Given the description of an element on the screen output the (x, y) to click on. 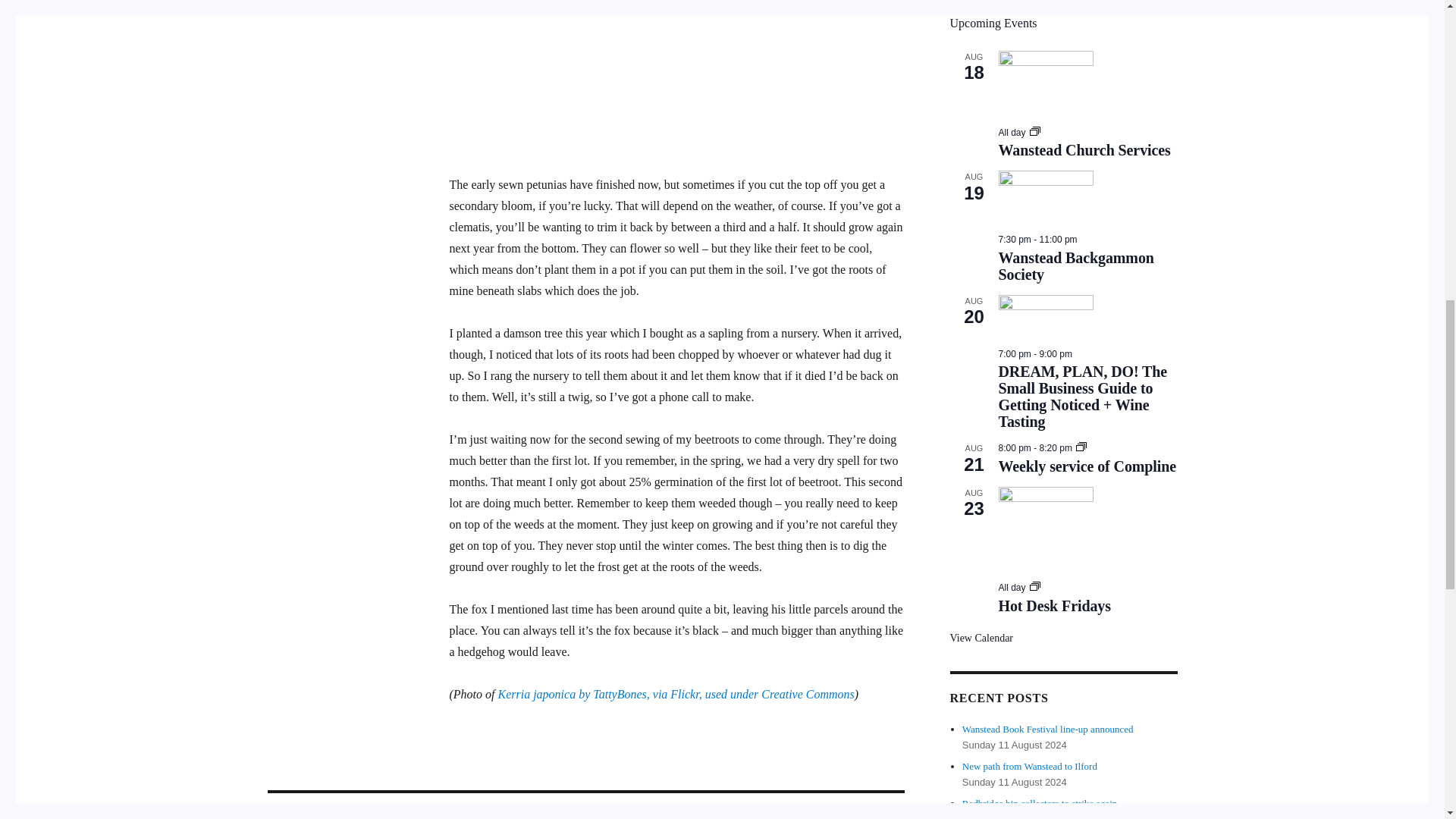
Weekly service of Compline (1086, 466)
Event Series (1035, 130)
Event Series (1080, 448)
Event Series (1035, 132)
Redbridge bin collectors to strike again (1040, 803)
Hot Desk Fridays (1053, 606)
Weekly service of Compline (1086, 466)
View more events. (981, 638)
New path from Wanstead to Ilford (1029, 766)
